Given the description of an element on the screen output the (x, y) to click on. 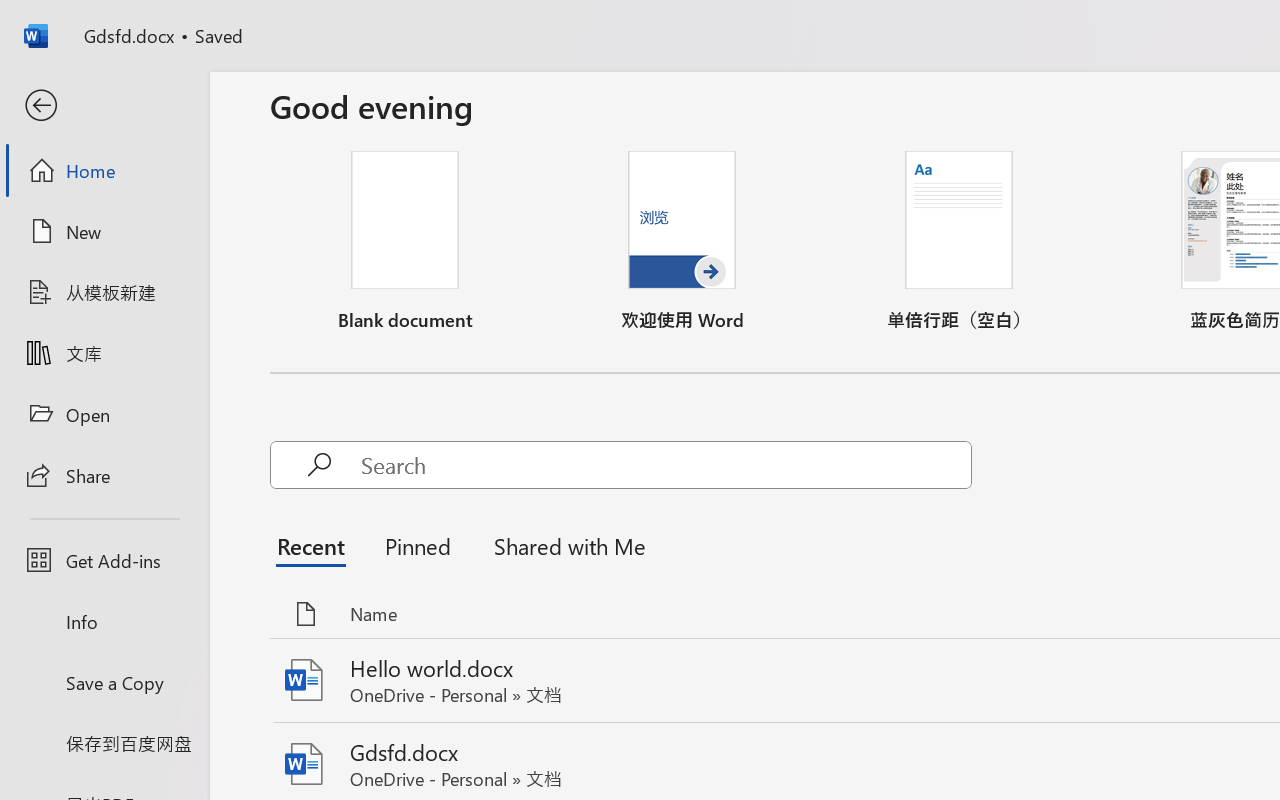
Get Add-ins (104, 560)
Shared with Me (563, 545)
Blank document (405, 241)
Recent (316, 545)
New (104, 231)
Save a Copy (104, 682)
Info (104, 621)
Pinned (417, 545)
